Given the description of an element on the screen output the (x, y) to click on. 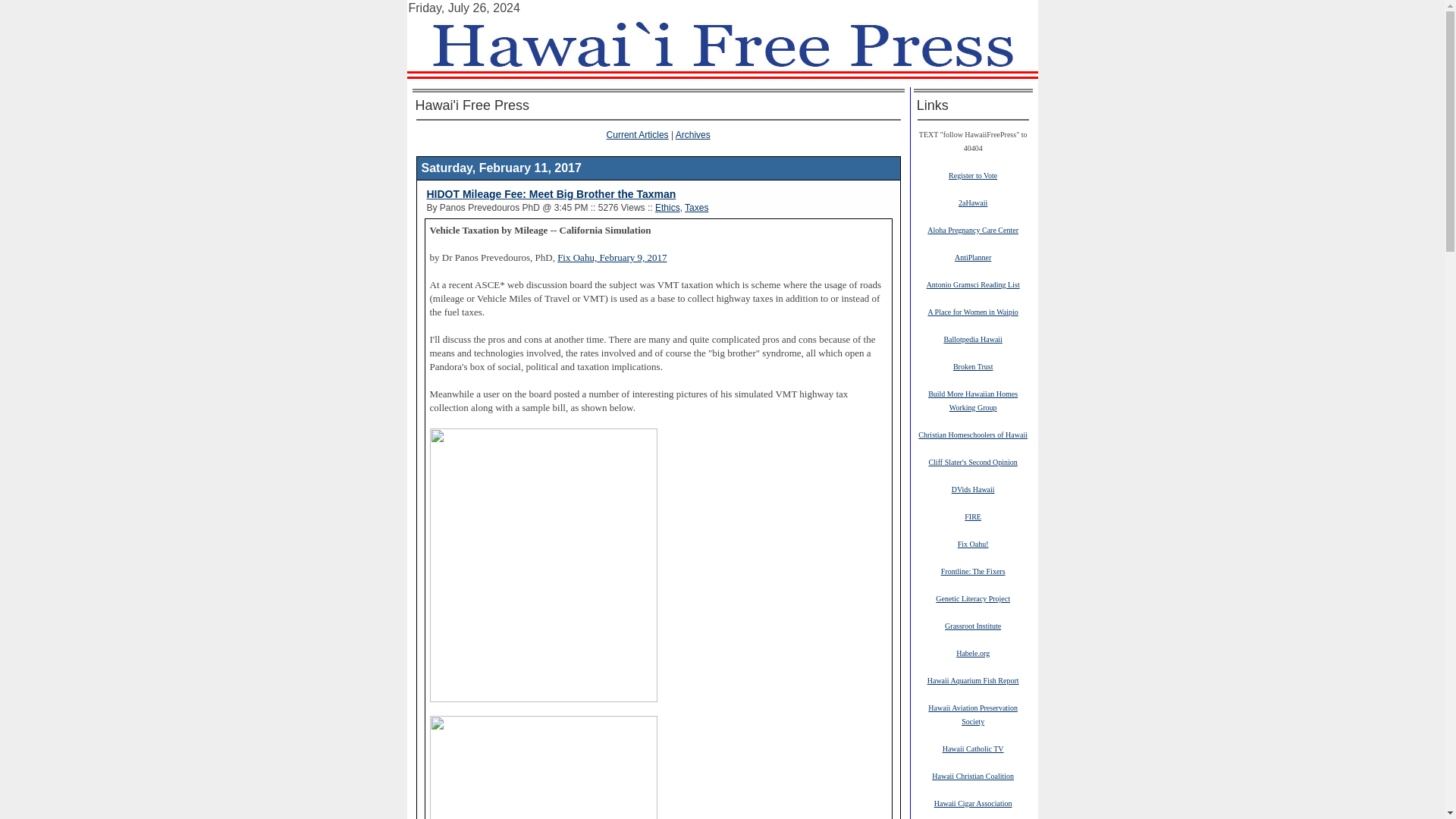
Archives (692, 134)
Hawaii Christian Coalition (972, 775)
Frontline: The Fixers (973, 570)
Aloha Pregnancy Care Center (972, 229)
AntiPlanner (973, 256)
Genetic Literacy Project (973, 597)
Ballotpedia Hawaii (972, 338)
Fix Oahu, February 9, 2017 (611, 257)
Build More Hawaiian Homes Working Group (972, 400)
Antonio Gramsci Reading List (973, 284)
2aHawaii (972, 202)
Current Articles (637, 134)
DVids Hawaii (973, 489)
Habele.org (973, 652)
Register to Vote (973, 174)
